Given the description of an element on the screen output the (x, y) to click on. 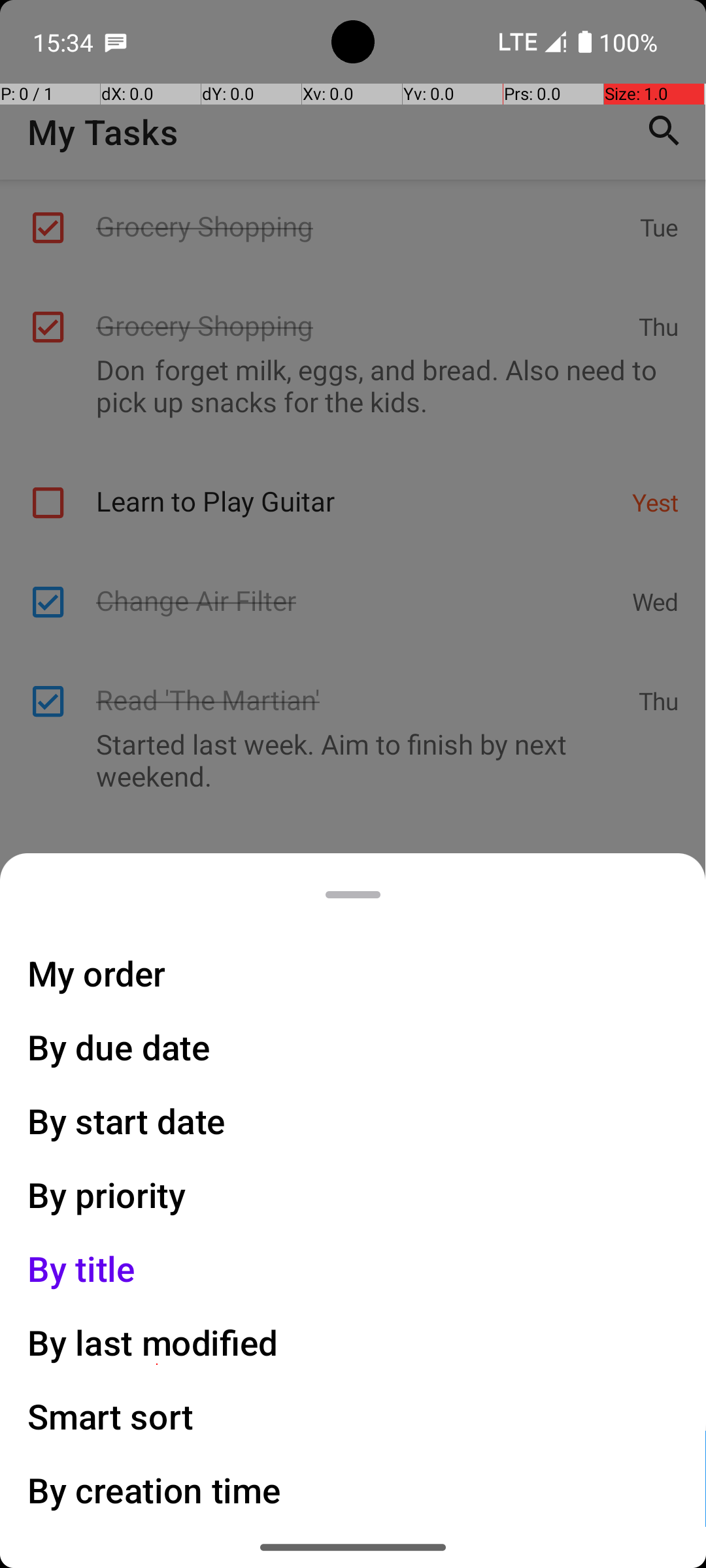
Drag handle Element type: android.view.View (352, 894)
My order Element type: android.widget.TextView (96, 972)
By due date Element type: android.widget.TextView (119, 1046)
By start date Element type: android.widget.TextView (126, 1120)
By priority Element type: android.widget.TextView (106, 1194)
By title Element type: android.widget.TextView (81, 1268)
By last modified Element type: android.widget.TextView (152, 1342)
Smart sort Element type: android.widget.TextView (110, 1415)
By creation time Element type: android.widget.TextView (154, 1489)
